Given the description of an element on the screen output the (x, y) to click on. 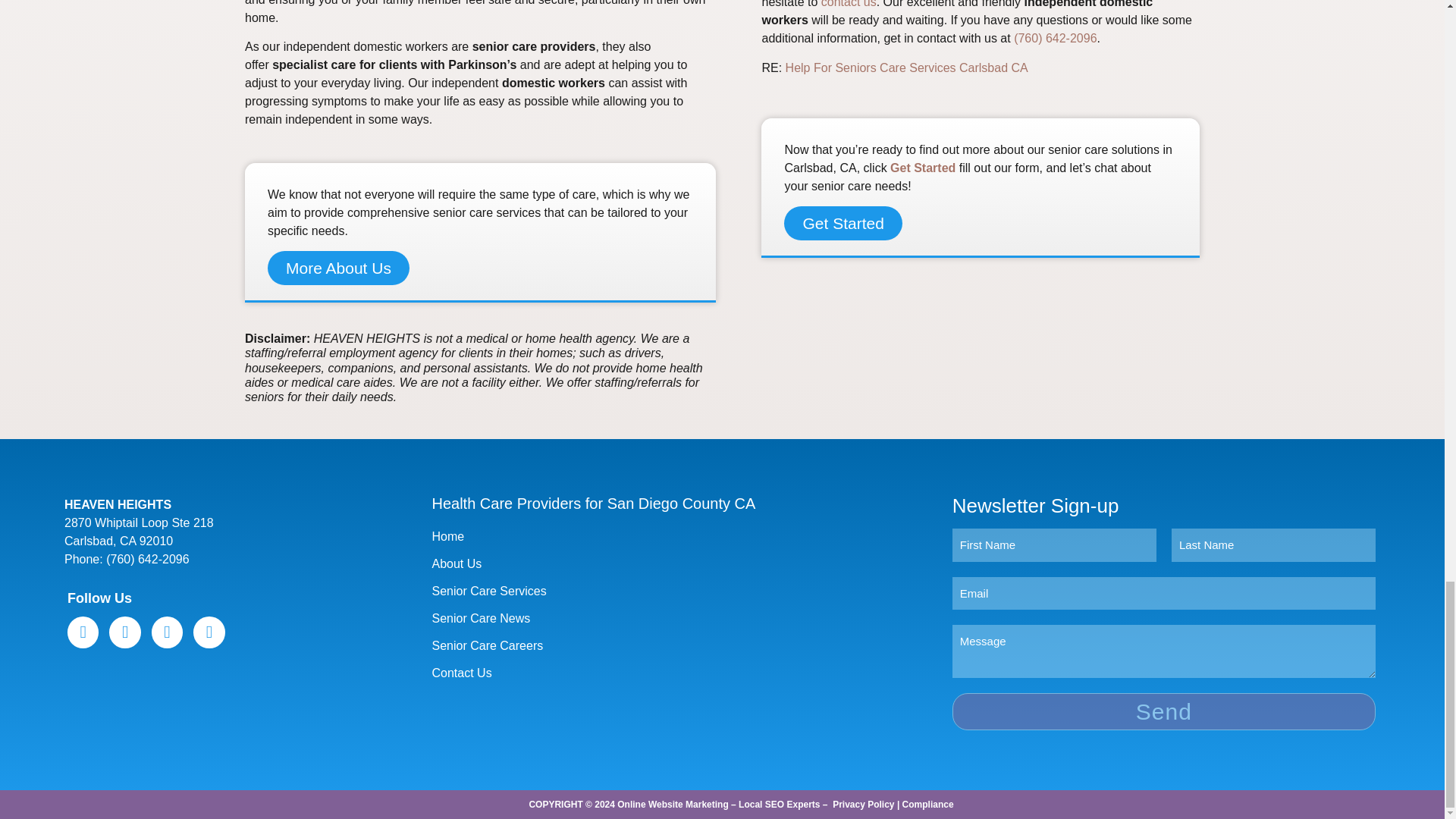
Help For Seniors Care Services Carlsbad CA (906, 67)
Privacy Policy (862, 804)
Help For Seniors Carlsbad CA (906, 67)
contact us (848, 4)
Compliance (927, 804)
More About Us (338, 267)
Get Started (922, 167)
Get Started (842, 223)
Online Website Marketing - Local SEO Experts (718, 804)
